Given the description of an element on the screen output the (x, y) to click on. 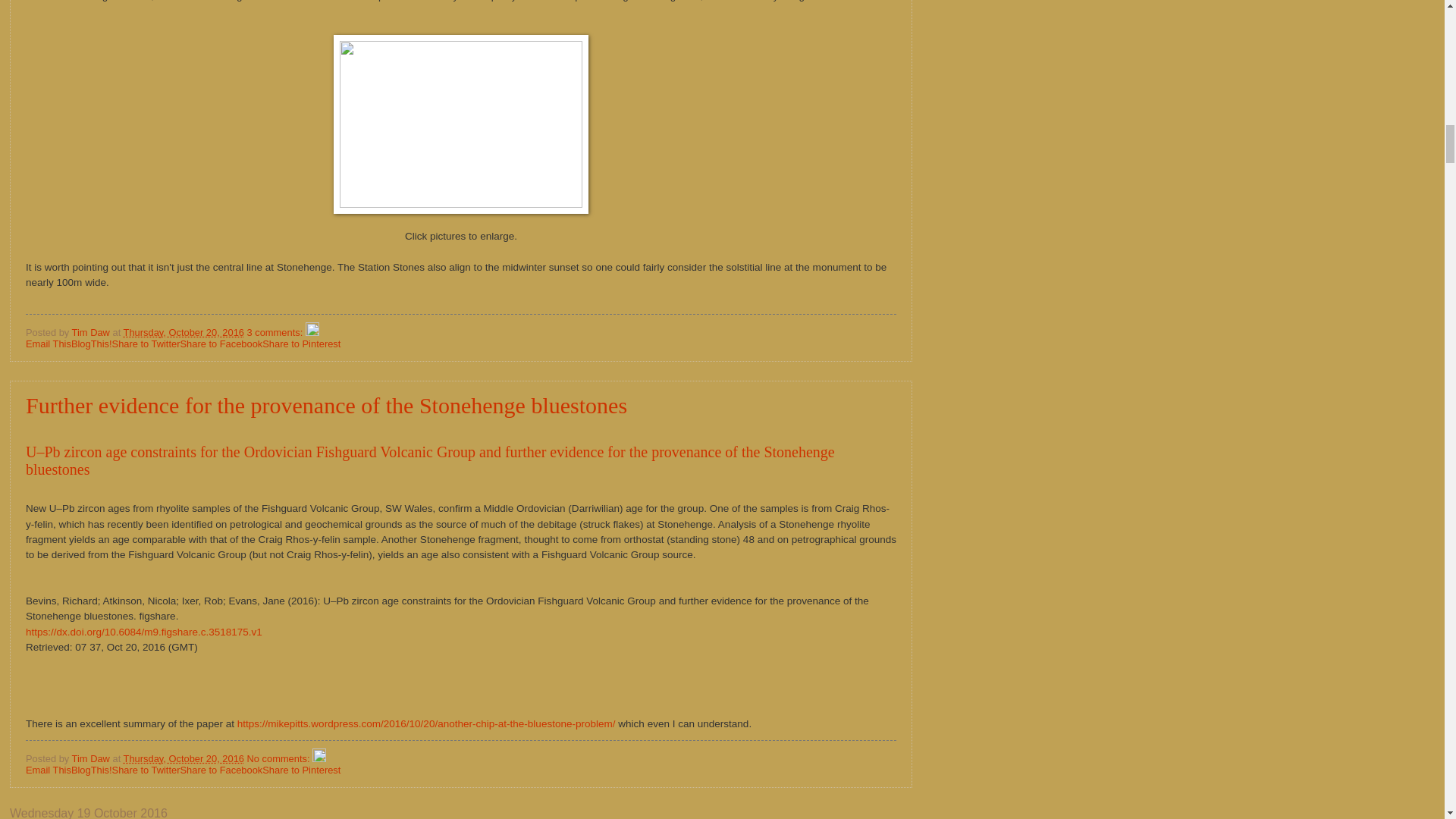
Thursday, October 20, 2016 (183, 332)
Tim Daw (92, 332)
